Given the description of an element on the screen output the (x, y) to click on. 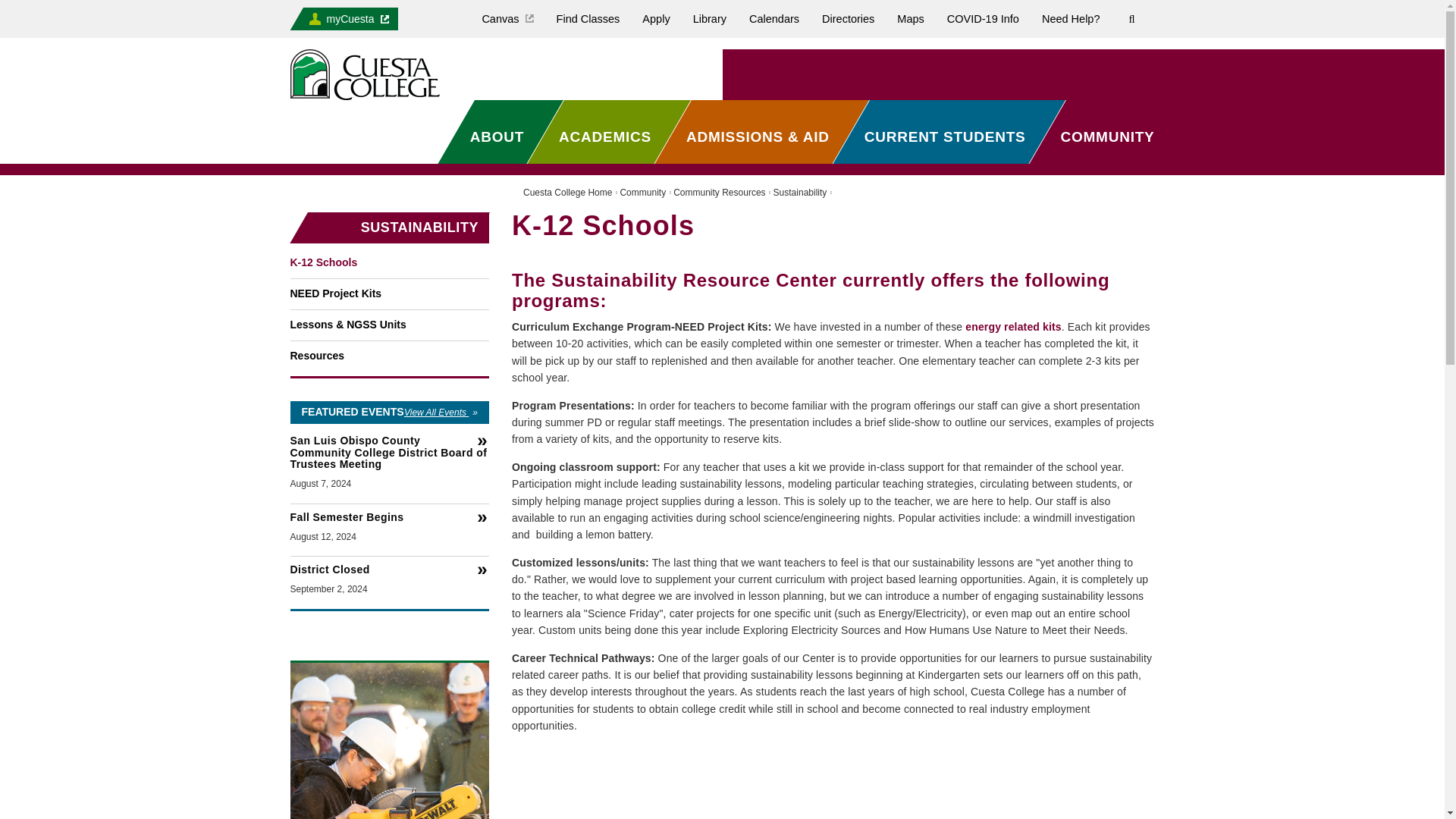
ABOUT (499, 136)
Canvas (507, 18)
Calendars (774, 18)
Find Classes (588, 18)
Directories (847, 18)
Maps (909, 18)
myCuesta (349, 18)
COVID-19 Info (983, 18)
Apply (656, 18)
Library (709, 18)
Need Help? (1070, 18)
